Given the description of an element on the screen output the (x, y) to click on. 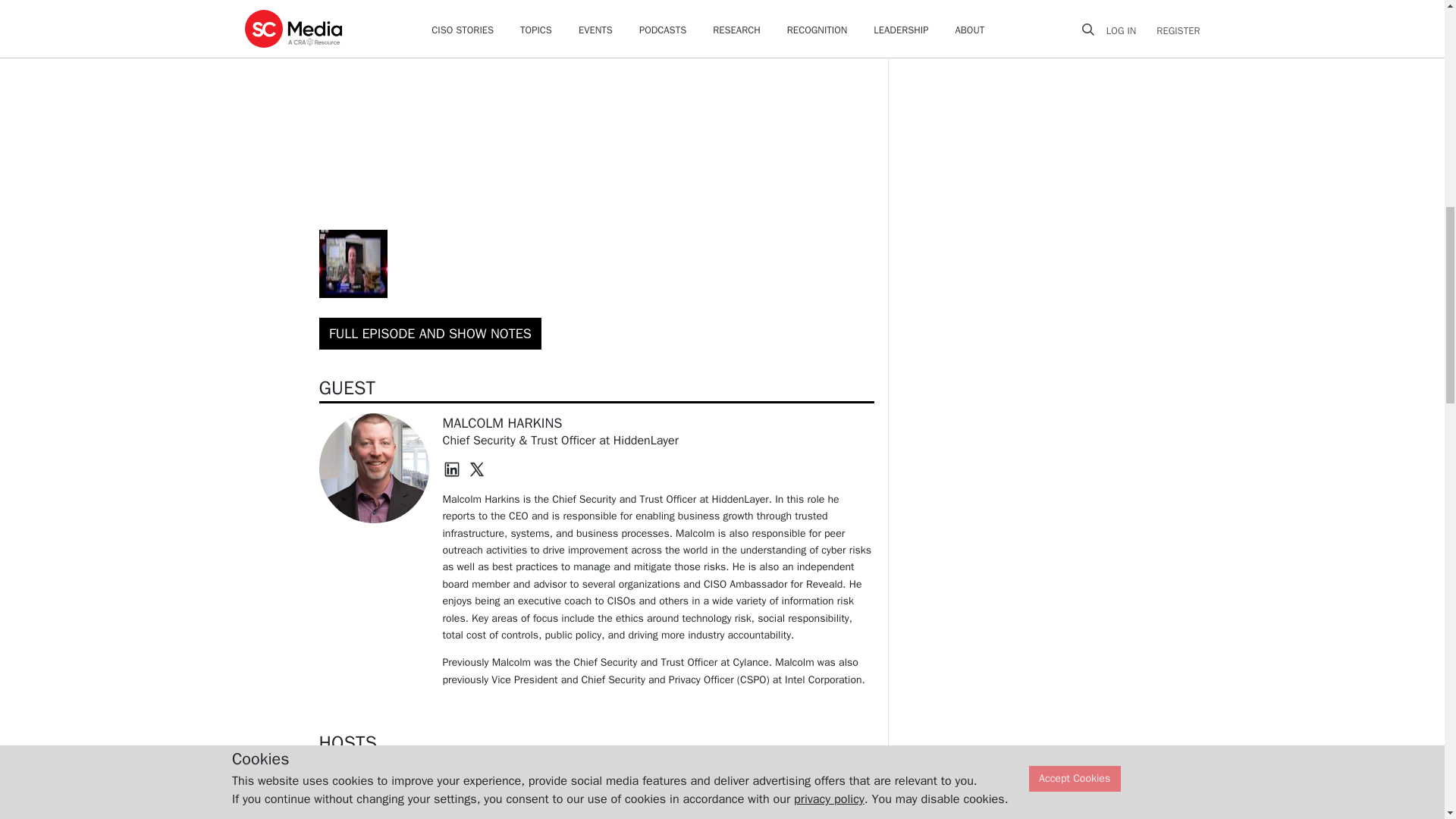
FULL EPISODE AND SHOW NOTES (429, 333)
